Given the description of an element on the screen output the (x, y) to click on. 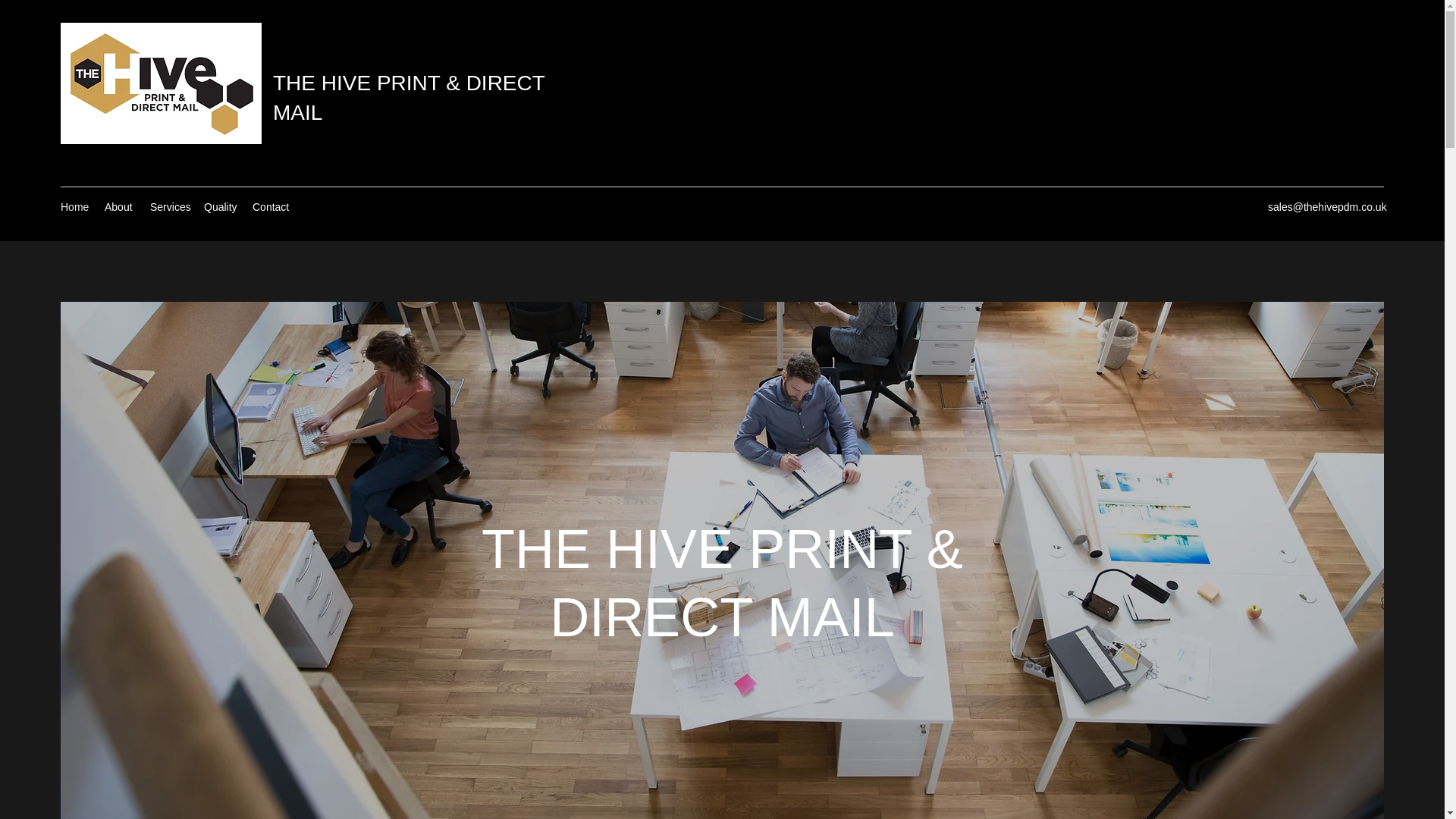
Home (74, 206)
Services (169, 206)
About (119, 206)
Contact (271, 206)
Quality (220, 206)
